Given the description of an element on the screen output the (x, y) to click on. 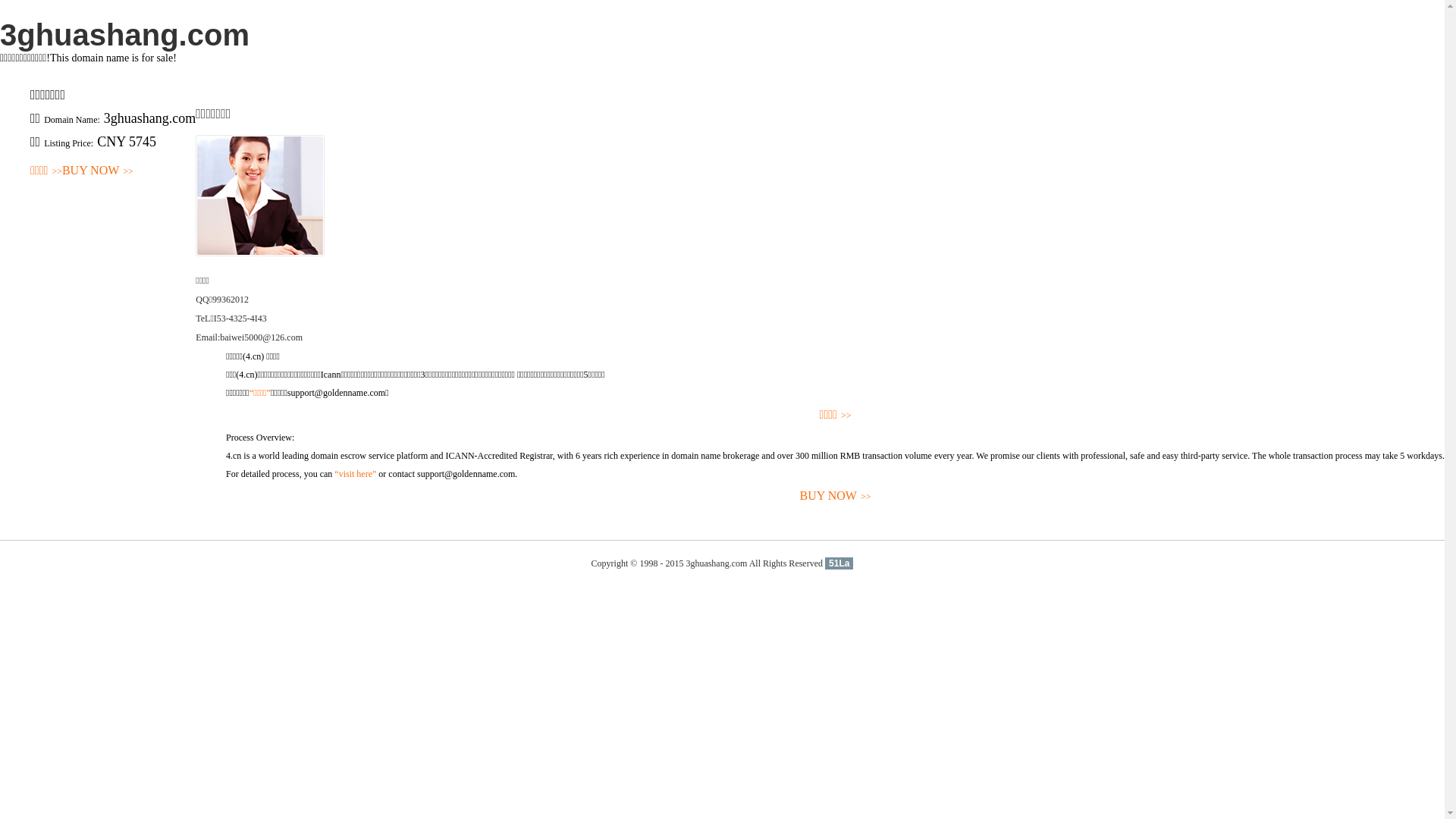
BUY NOW>> Element type: text (834, 496)
51La Element type: text (839, 563)
BUY NOW>> Element type: text (97, 170)
